Given the description of an element on the screen output the (x, y) to click on. 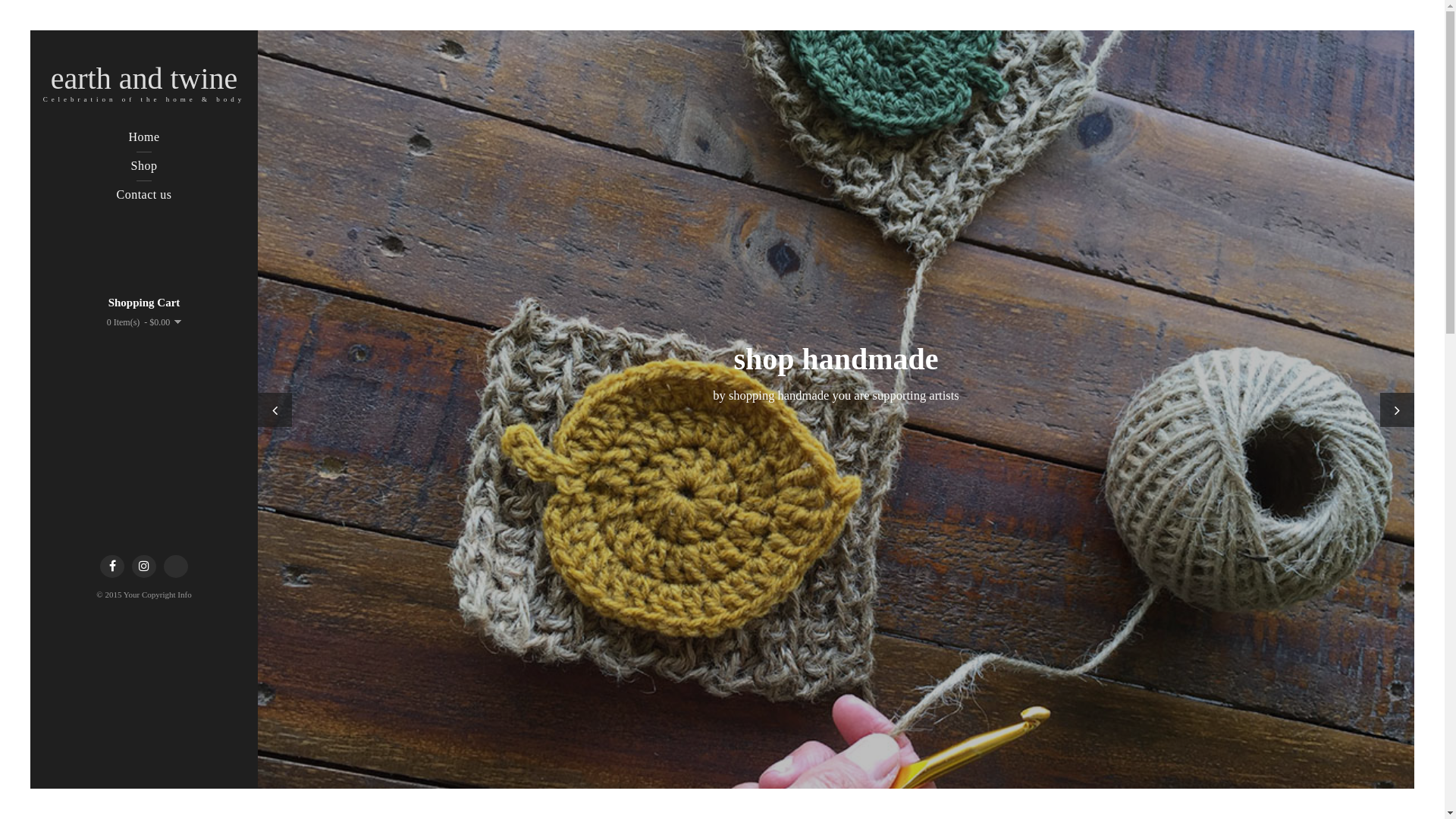
earth and twine Element type: text (143, 78)
Contact us Element type: text (144, 194)
0 Item(s)  - $0.00 Element type: text (144, 321)
Shop Element type: text (144, 165)
Facebook Element type: hover (111, 566)
Etsy Element type: hover (175, 566)
Instagram Element type: hover (143, 566)
Home Element type: text (144, 136)
